Given the description of an element on the screen output the (x, y) to click on. 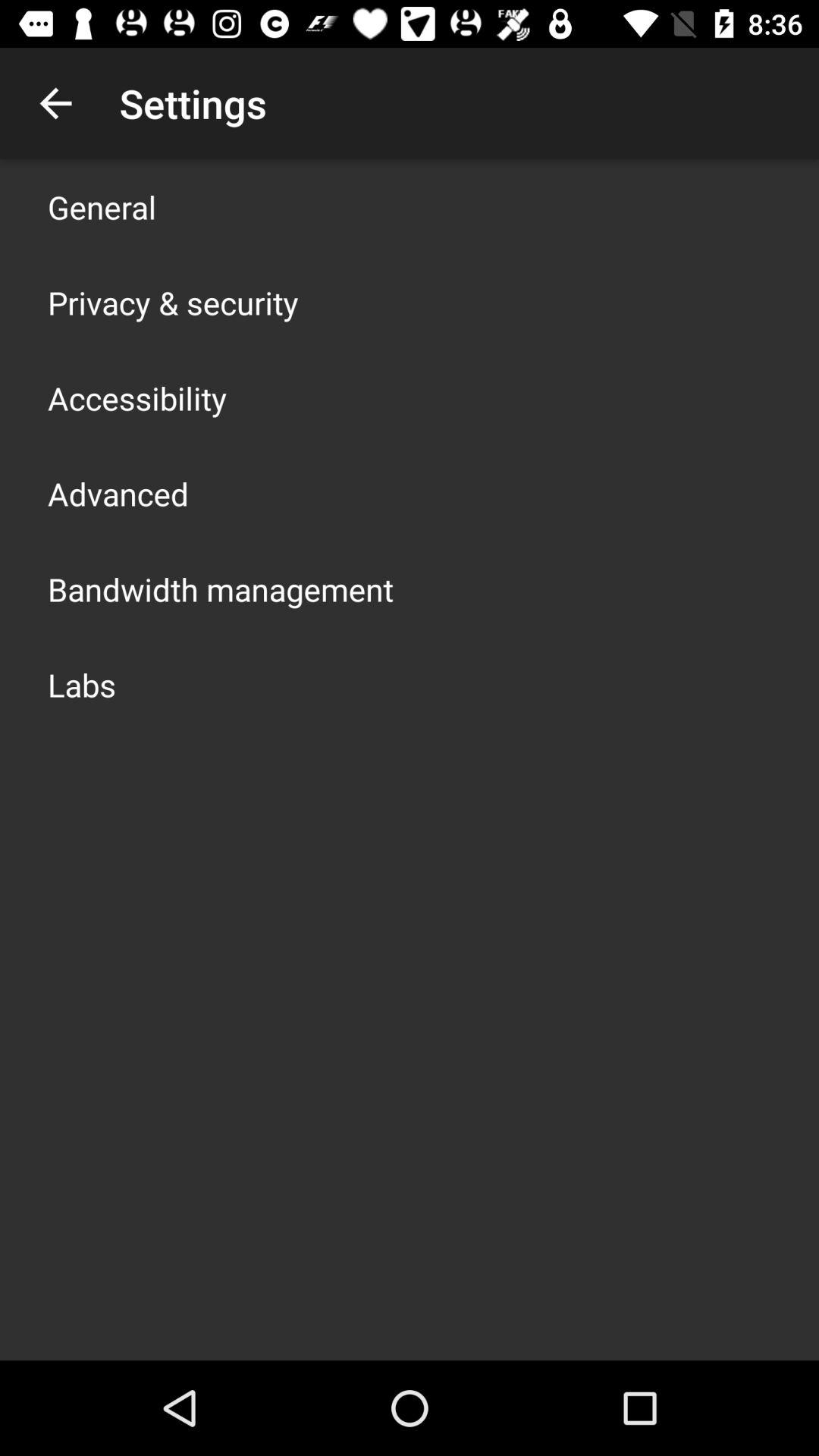
choose icon below privacy & security item (136, 397)
